Given the description of an element on the screen output the (x, y) to click on. 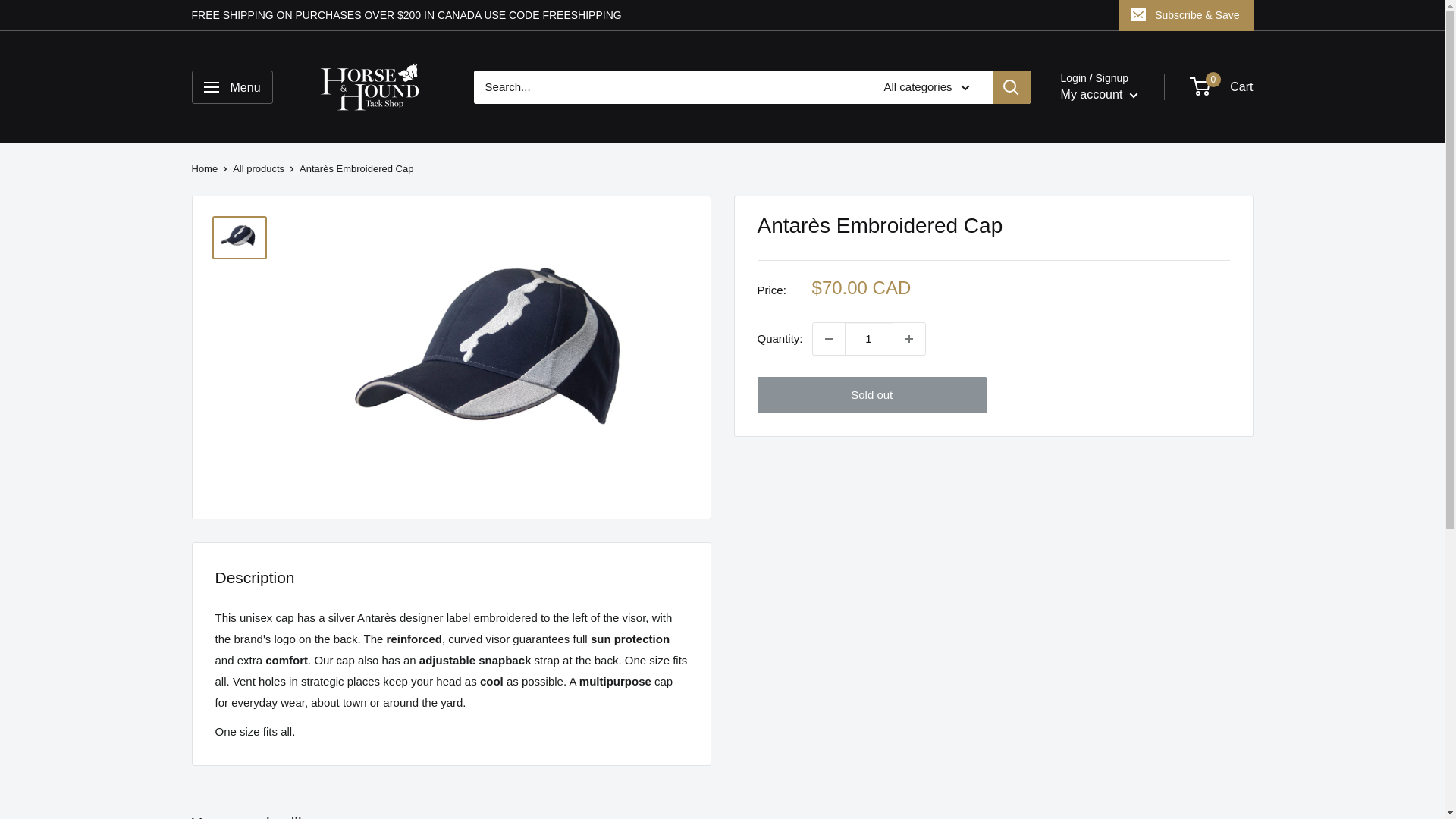
Decrease quantity by 1 (828, 338)
1 (868, 338)
Increase quantity by 1 (908, 338)
